Given the description of an element on the screen output the (x, y) to click on. 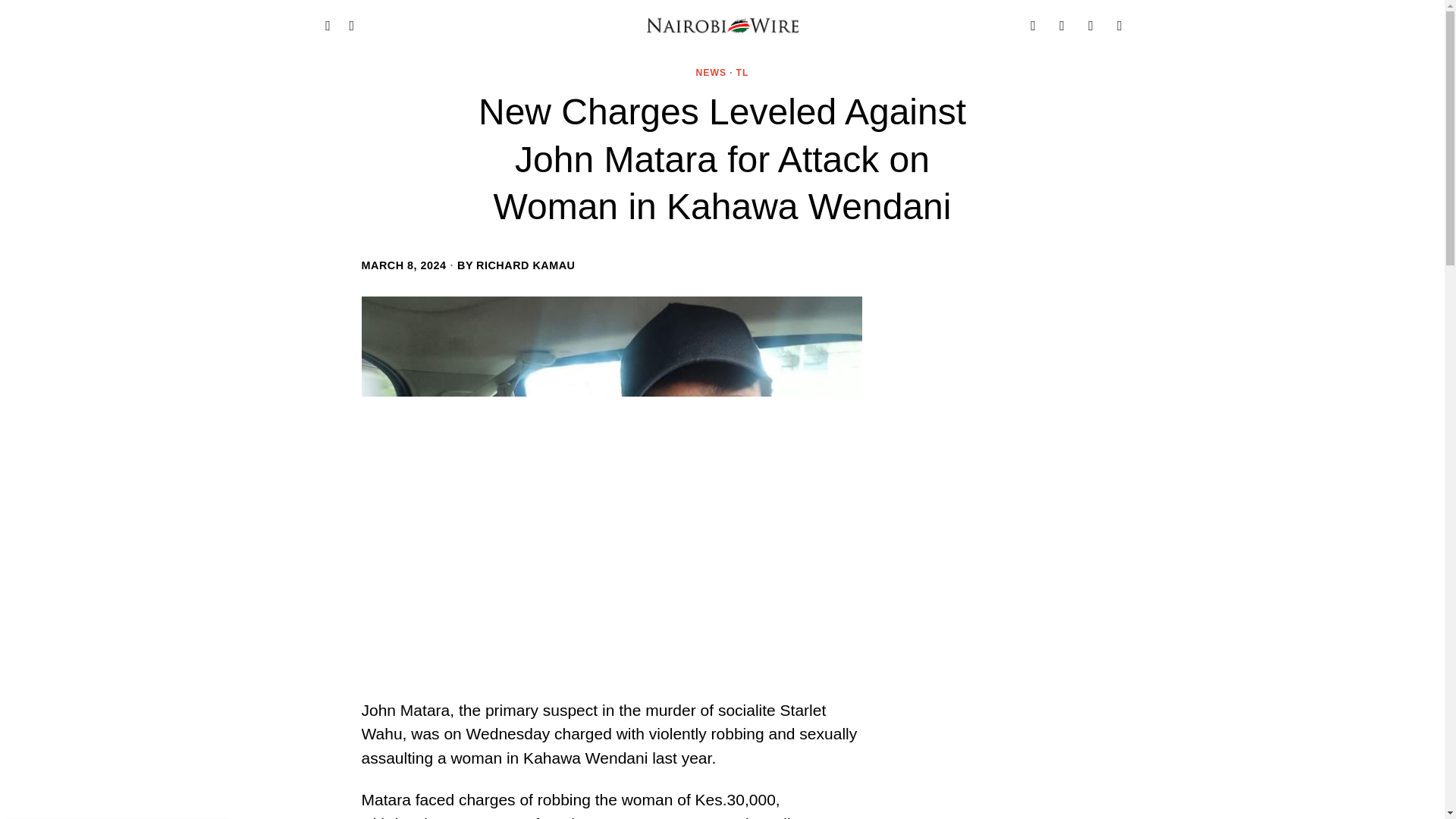
RICHARD KAMAU (525, 264)
NEWS (710, 73)
08 Mar, 2024 06:57:50 (403, 264)
TL (742, 73)
